Given the description of an element on the screen output the (x, y) to click on. 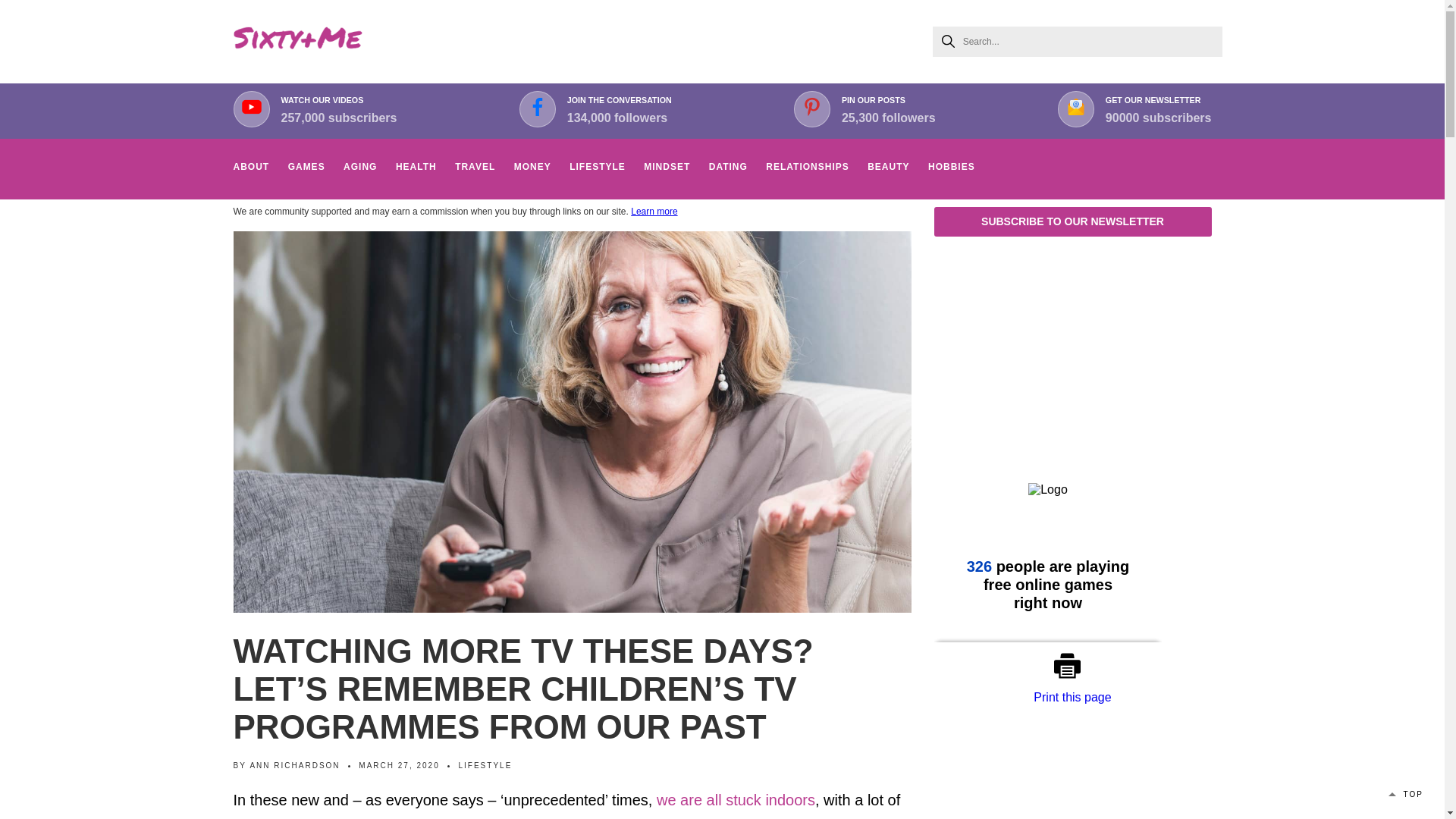
Sixty and Me (297, 40)
print this page (1071, 665)
Search... (1078, 41)
